Given the description of an element on the screen output the (x, y) to click on. 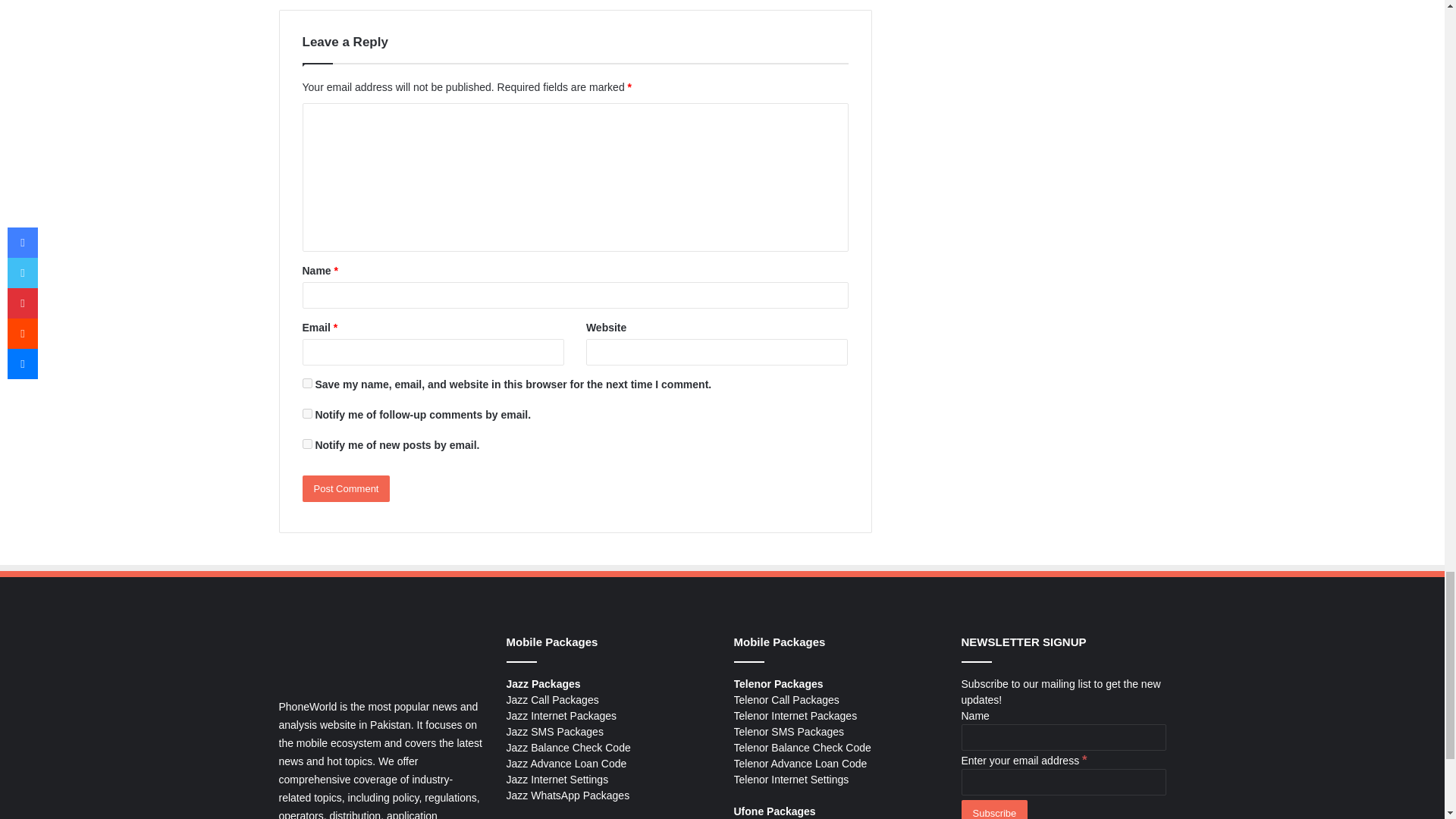
yes (306, 383)
Subscribe (993, 809)
subscribe (306, 413)
subscribe (306, 443)
Post Comment (345, 488)
